Given the description of an element on the screen output the (x, y) to click on. 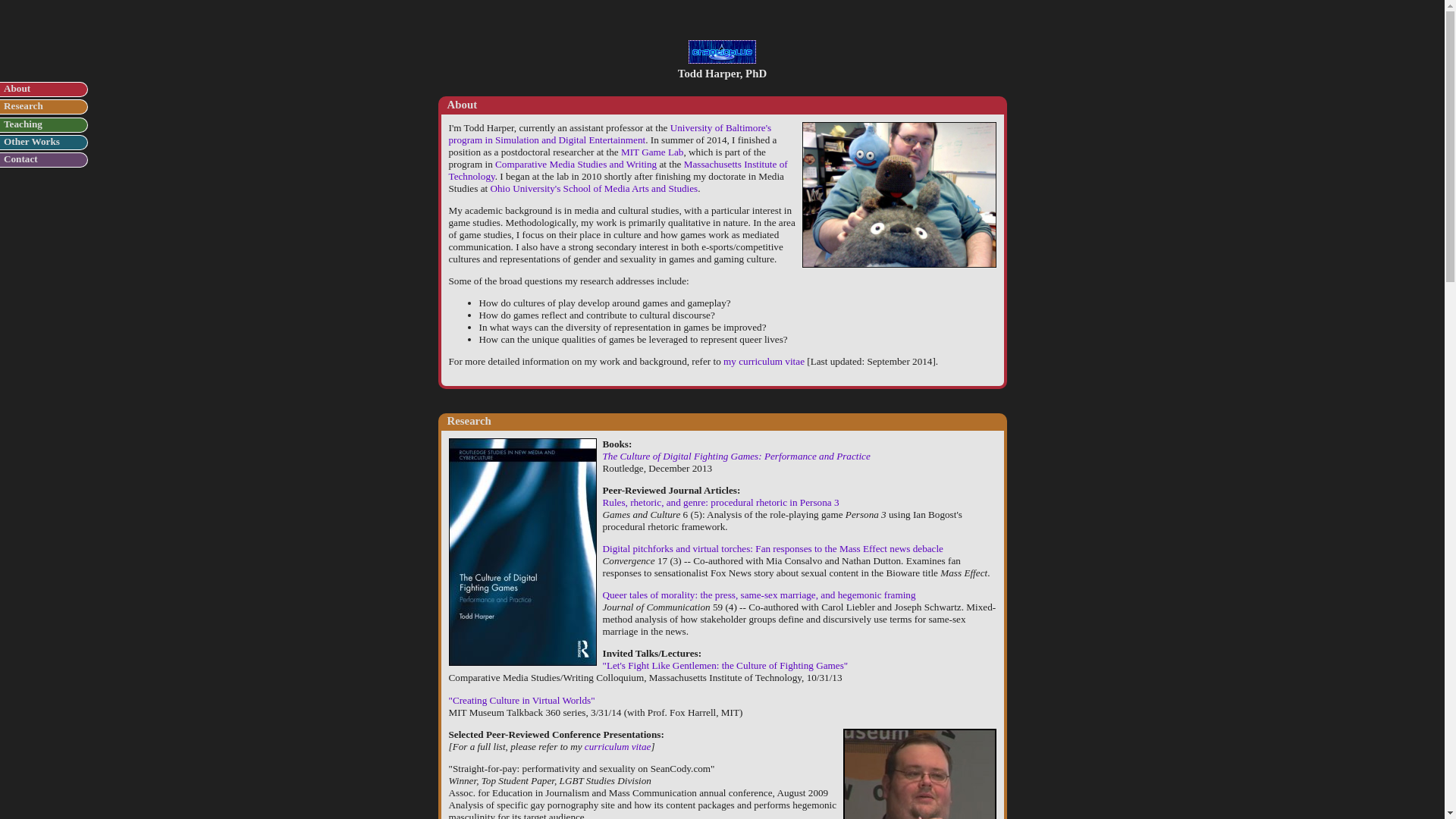
Comparative Media Studies and Writing (575, 163)
Contact (20, 158)
About (17, 88)
"Creating Culture in Virtual Worlds" (521, 699)
"Let's Fight Like Gentlemen: the Culture of Fighting Games" (724, 665)
Rules, rhetoric, and genre: procedural rhetoric in Persona 3 (720, 501)
my curriculum vitae (764, 360)
curriculum vitae (617, 746)
